Given the description of an element on the screen output the (x, y) to click on. 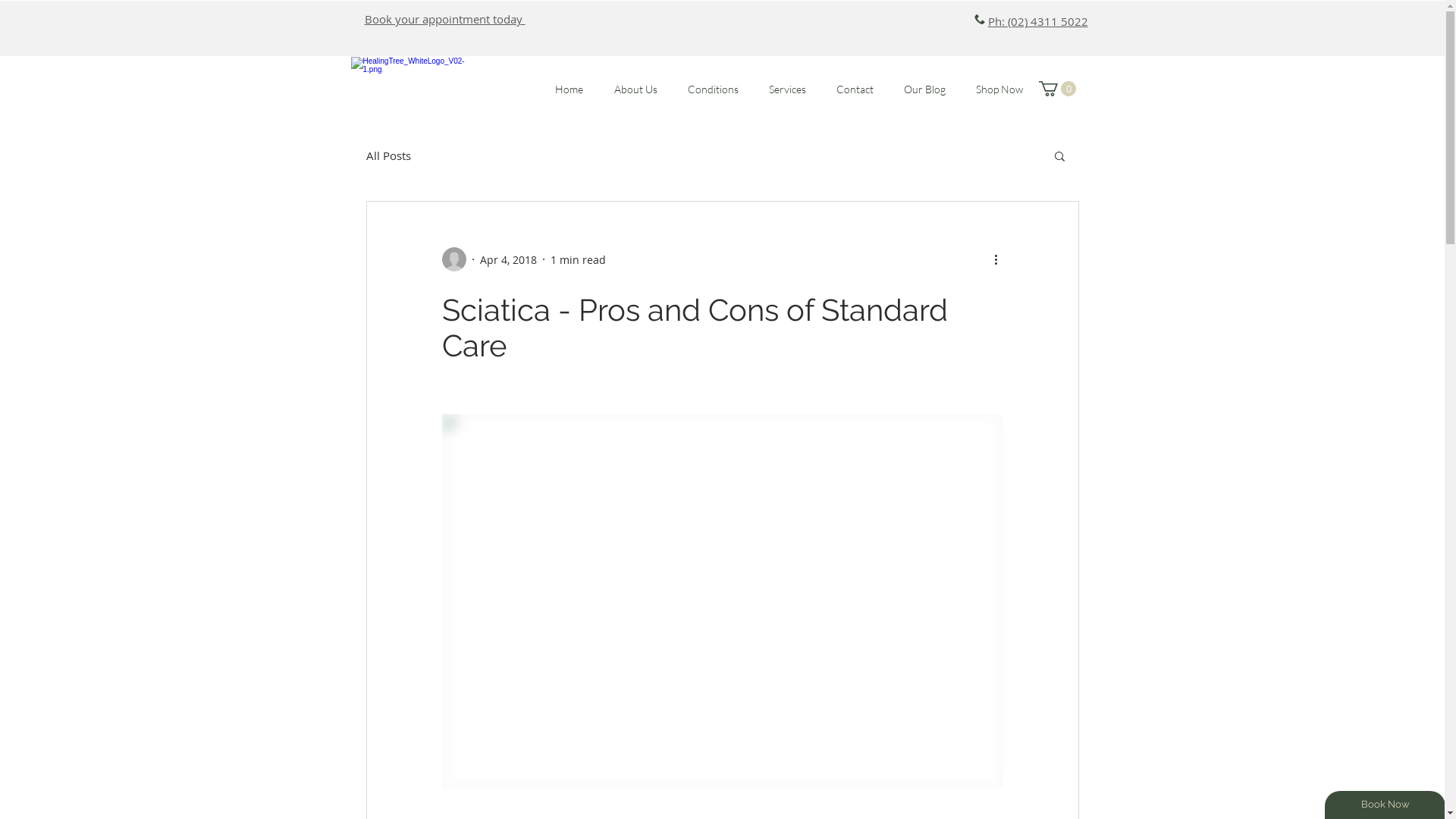
Our Blog Element type: text (924, 89)
All Posts Element type: text (387, 155)
Shop Now Element type: text (998, 89)
0 Element type: text (1057, 88)
Home Element type: text (569, 89)
About Us Element type: text (635, 89)
Ph: (02) 4311 5022 Element type: text (1037, 20)
Book your appointment today  Element type: text (444, 18)
Contact Element type: text (854, 89)
